Given the description of an element on the screen output the (x, y) to click on. 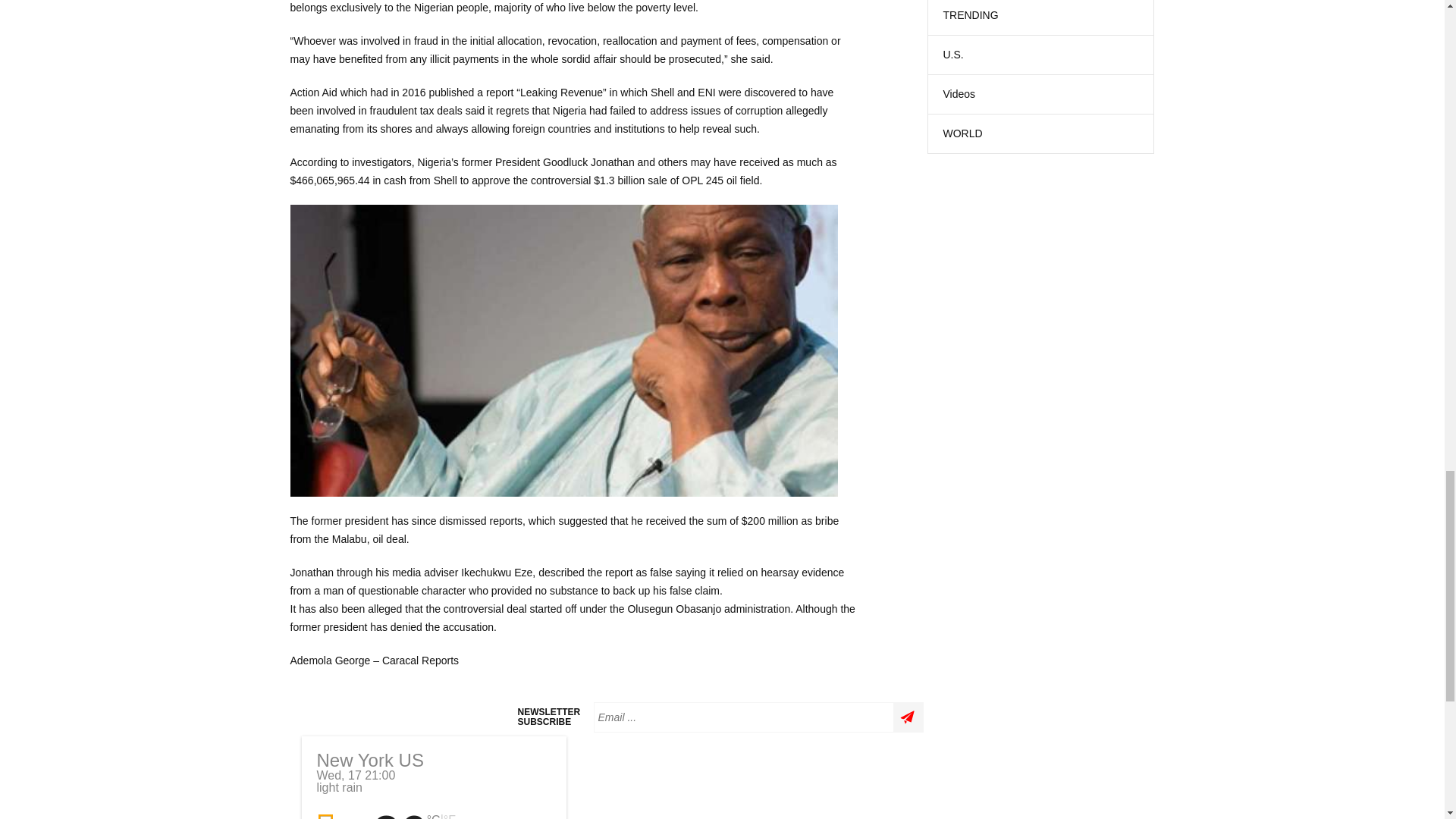
light rain (341, 814)
